Given the description of an element on the screen output the (x, y) to click on. 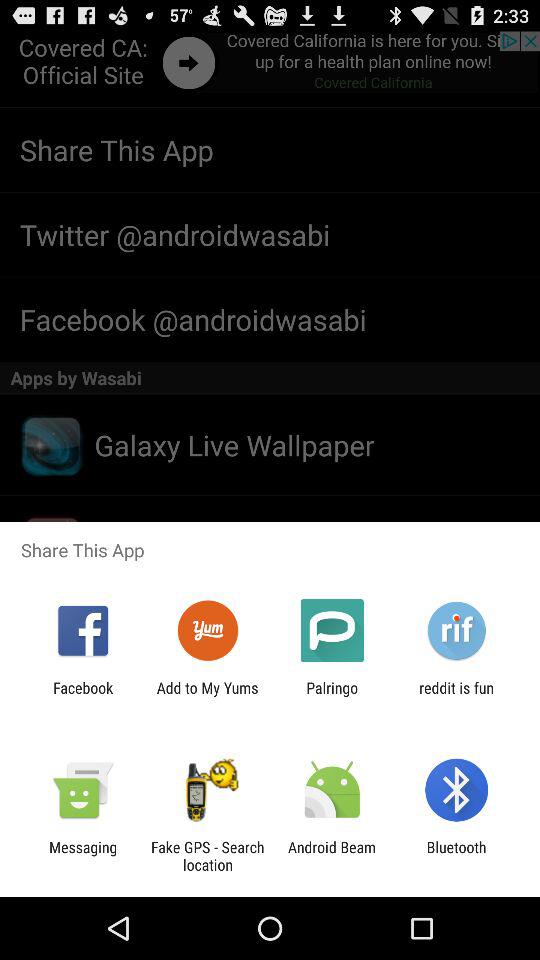
scroll to bluetooth app (456, 856)
